Given the description of an element on the screen output the (x, y) to click on. 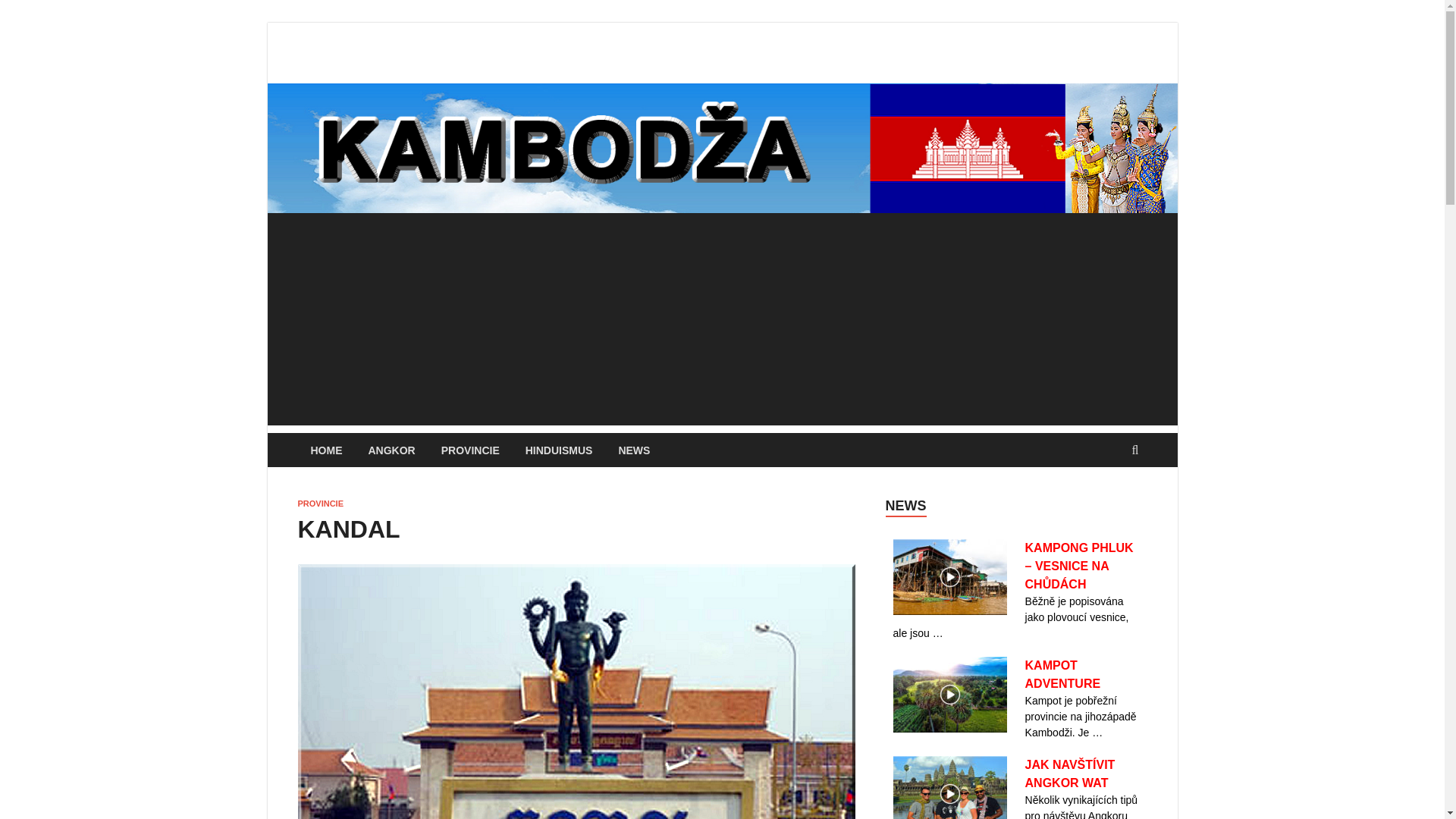
ANGKOR (391, 449)
NEWS (905, 505)
HOME (326, 449)
NEWS (905, 505)
NEWS (633, 449)
HINDUISMUS (558, 449)
PROVINCIE (470, 449)
KAMPOT ADVENTURE (1062, 674)
PROVINCIE (320, 502)
